Given the description of an element on the screen output the (x, y) to click on. 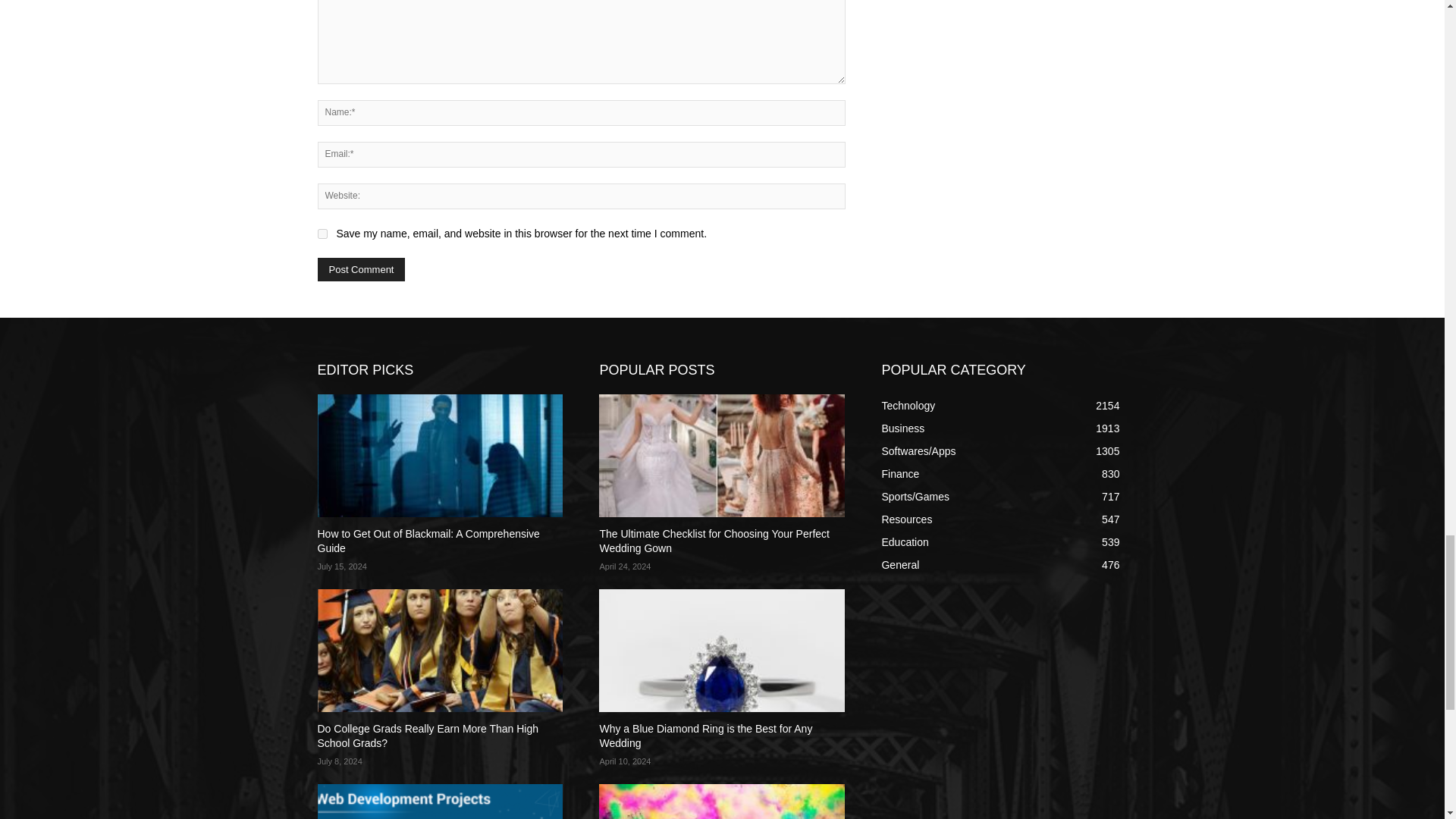
yes (321, 234)
Post Comment (360, 269)
